Given the description of an element on the screen output the (x, y) to click on. 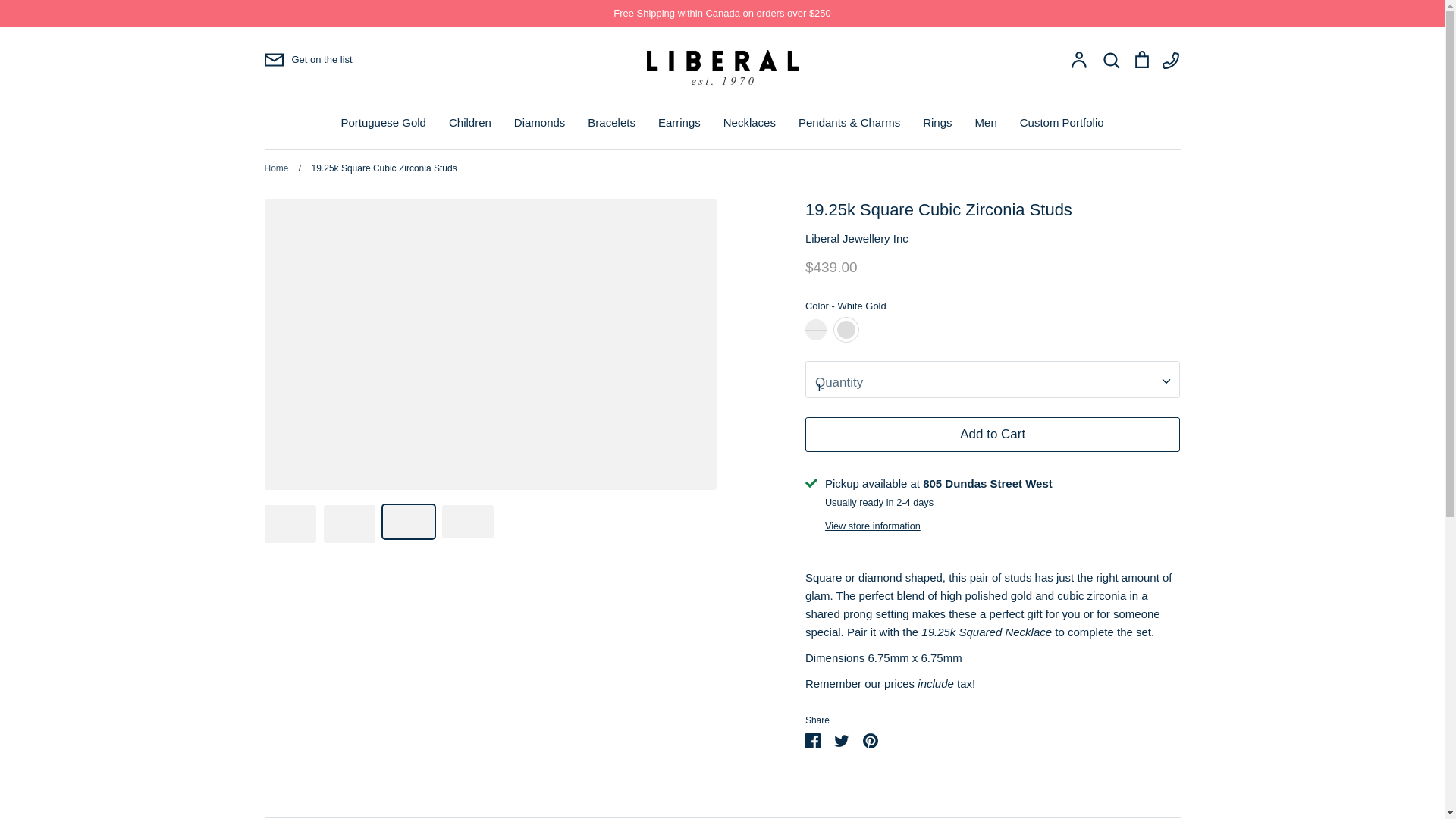
Account (1079, 59)
Search (1110, 59)
Get on the list (307, 59)
1 (992, 379)
Portuguese Gold (383, 122)
Cart (1141, 59)
